Given the description of an element on the screen output the (x, y) to click on. 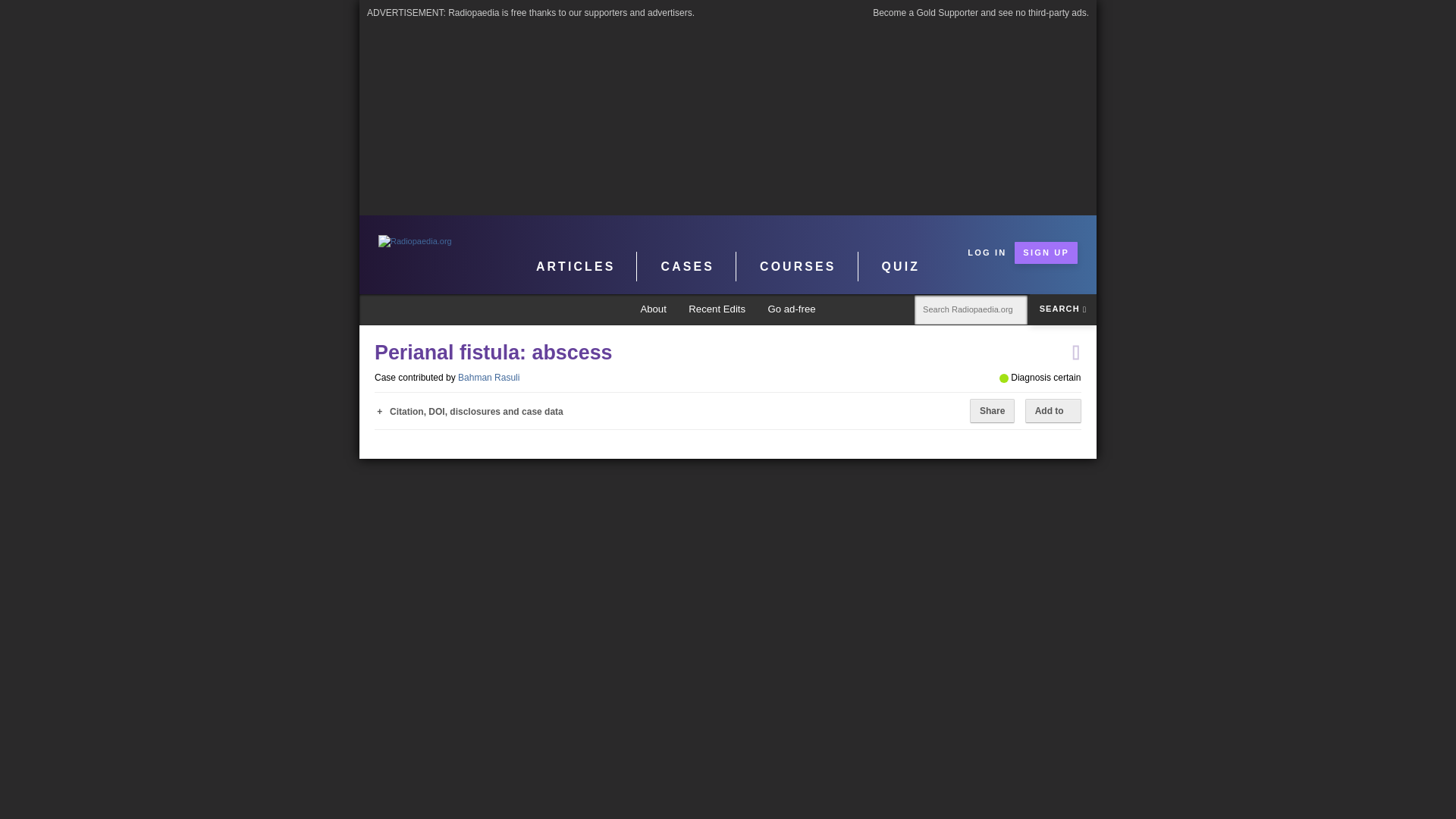
Share (991, 410)
Go ad-free (791, 309)
About (653, 309)
QUIZ (901, 266)
LOG IN (986, 252)
Share Case (991, 410)
Add to (1053, 410)
CASES (688, 266)
SEARCH (1062, 309)
SIGN UP (1045, 252)
